Given the description of an element on the screen output the (x, y) to click on. 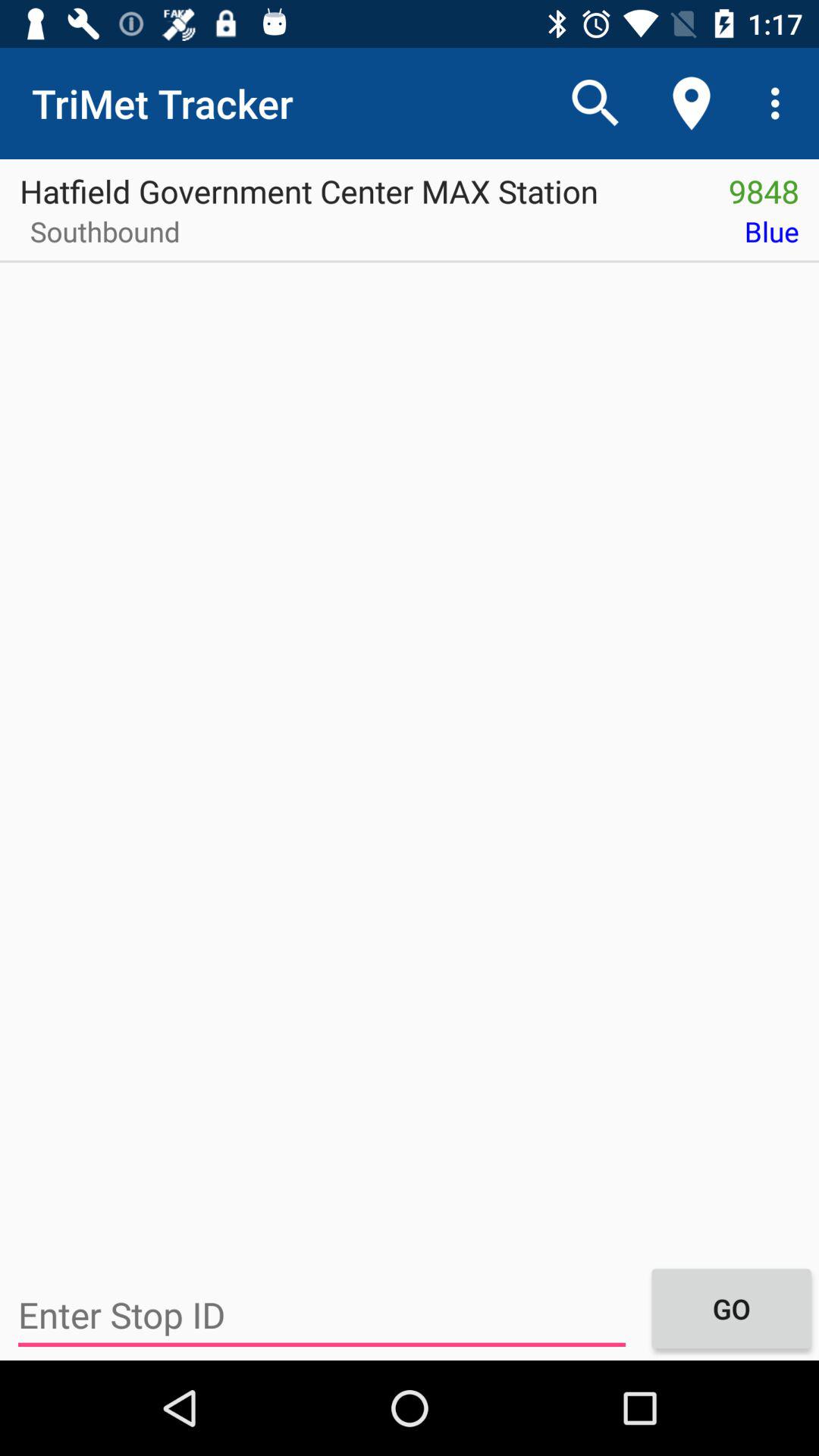
launch 9848 icon (763, 185)
